Given the description of an element on the screen output the (x, y) to click on. 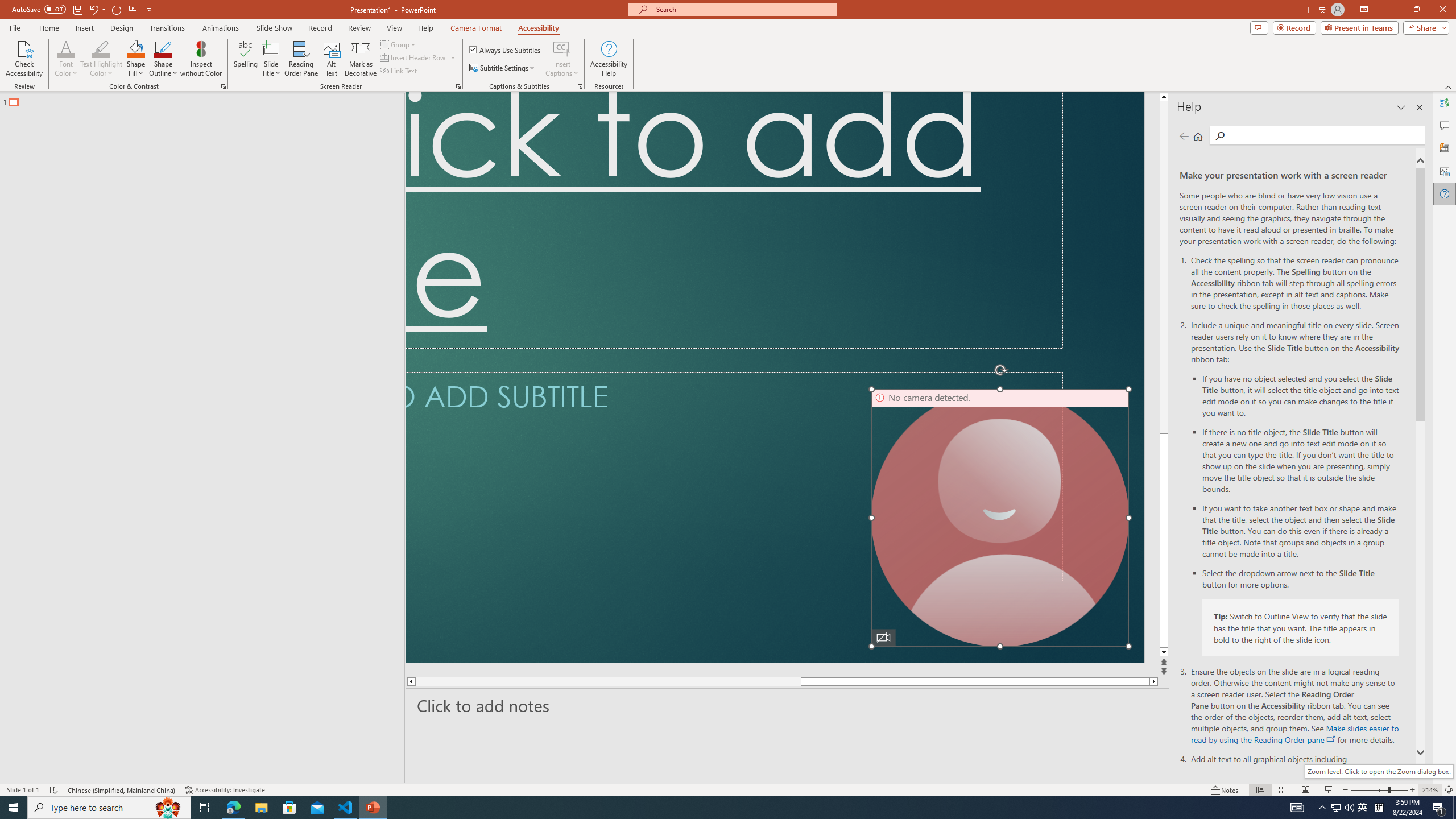
Alt Text (1444, 170)
Link Text (399, 69)
Subtitle TextBox (734, 476)
Shape Fill Orange, Accent 2 (135, 48)
Zoom 214% (1430, 790)
